Given the description of an element on the screen output the (x, y) to click on. 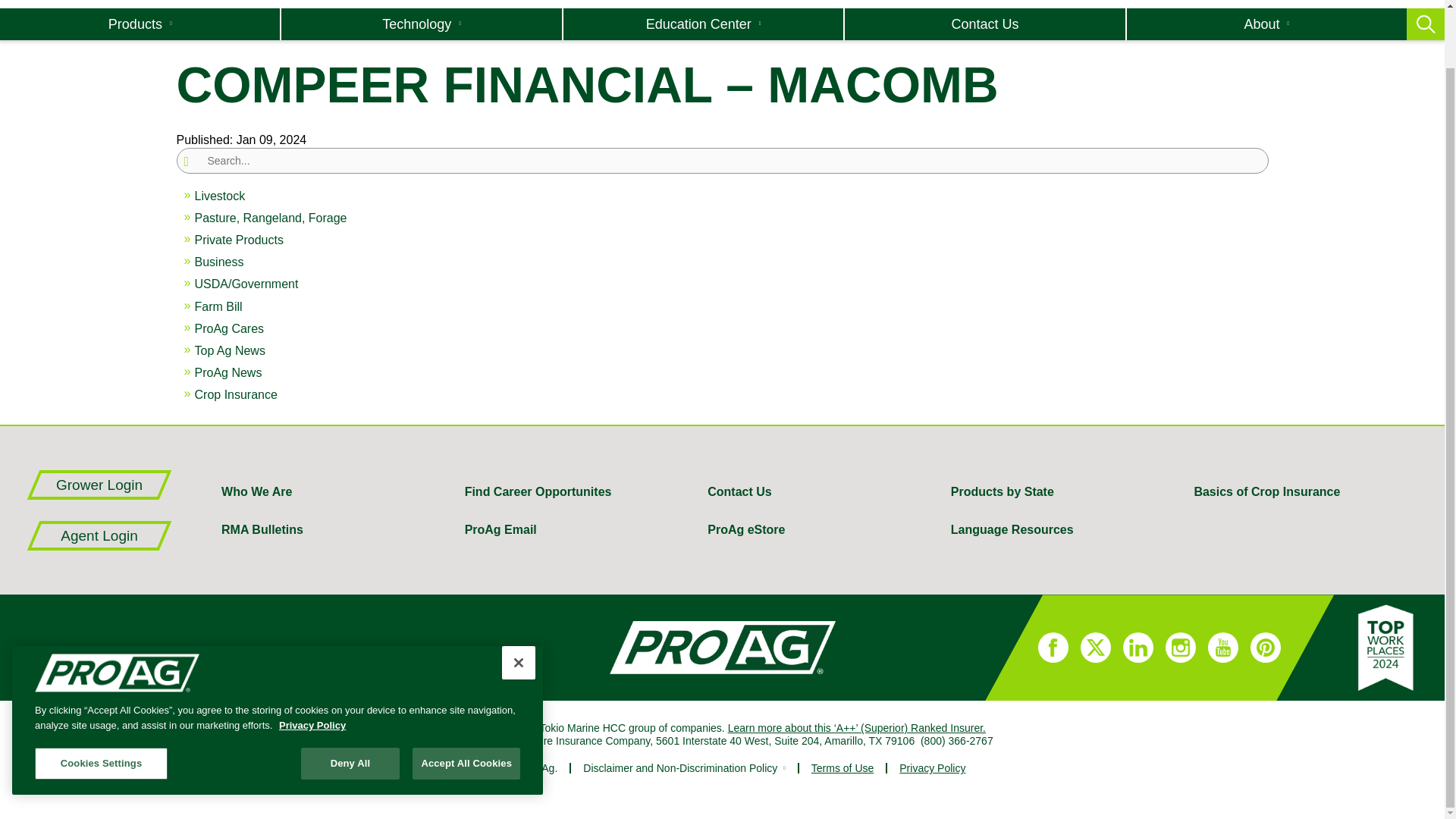
Company Logo (116, 609)
Search (1010, 15)
Products (139, 24)
Search (1010, 15)
